Given the description of an element on the screen output the (x, y) to click on. 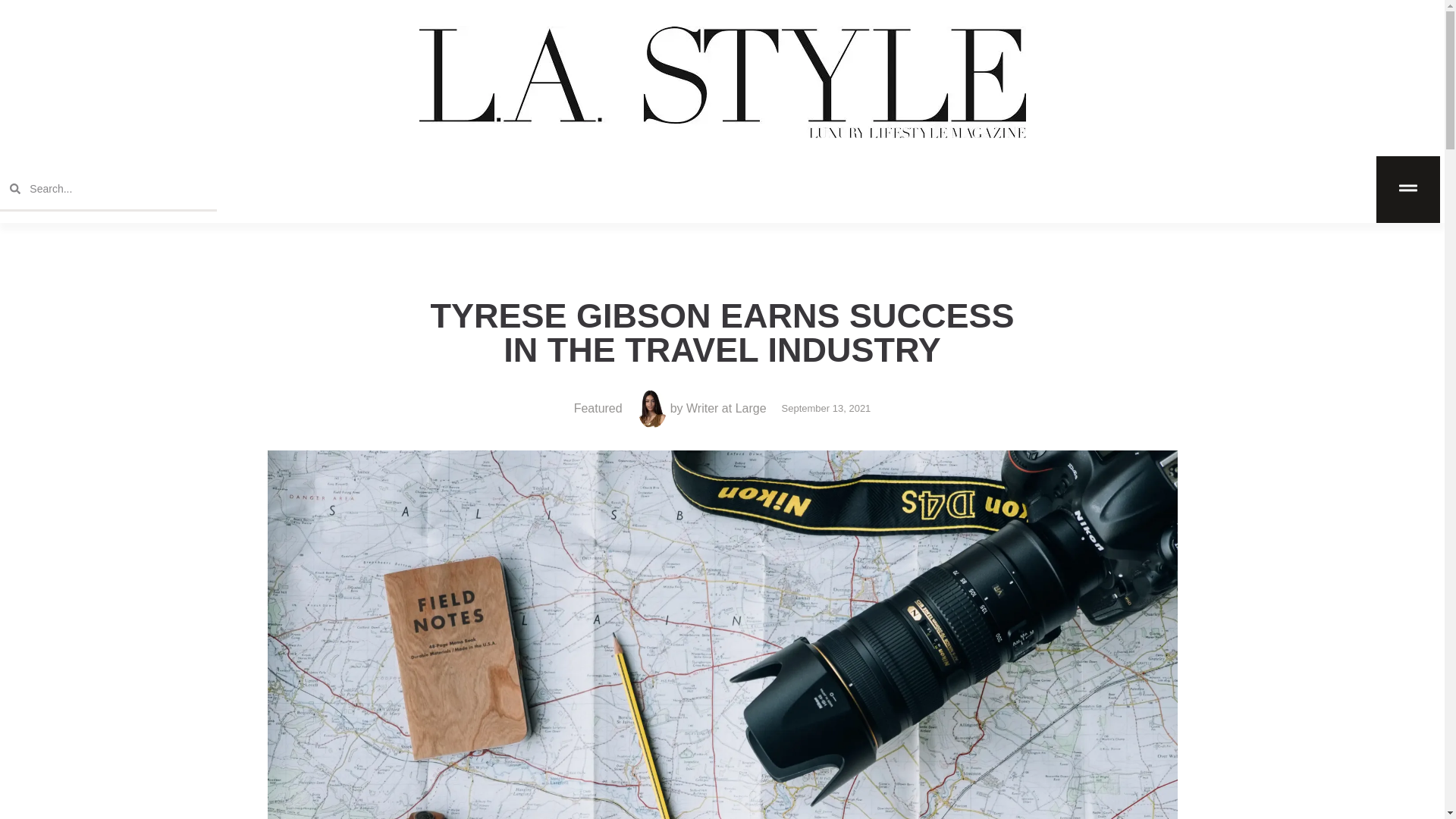
Featured (598, 408)
by Writer at Large (702, 408)
September 13, 2021 (825, 408)
